Given the description of an element on the screen output the (x, y) to click on. 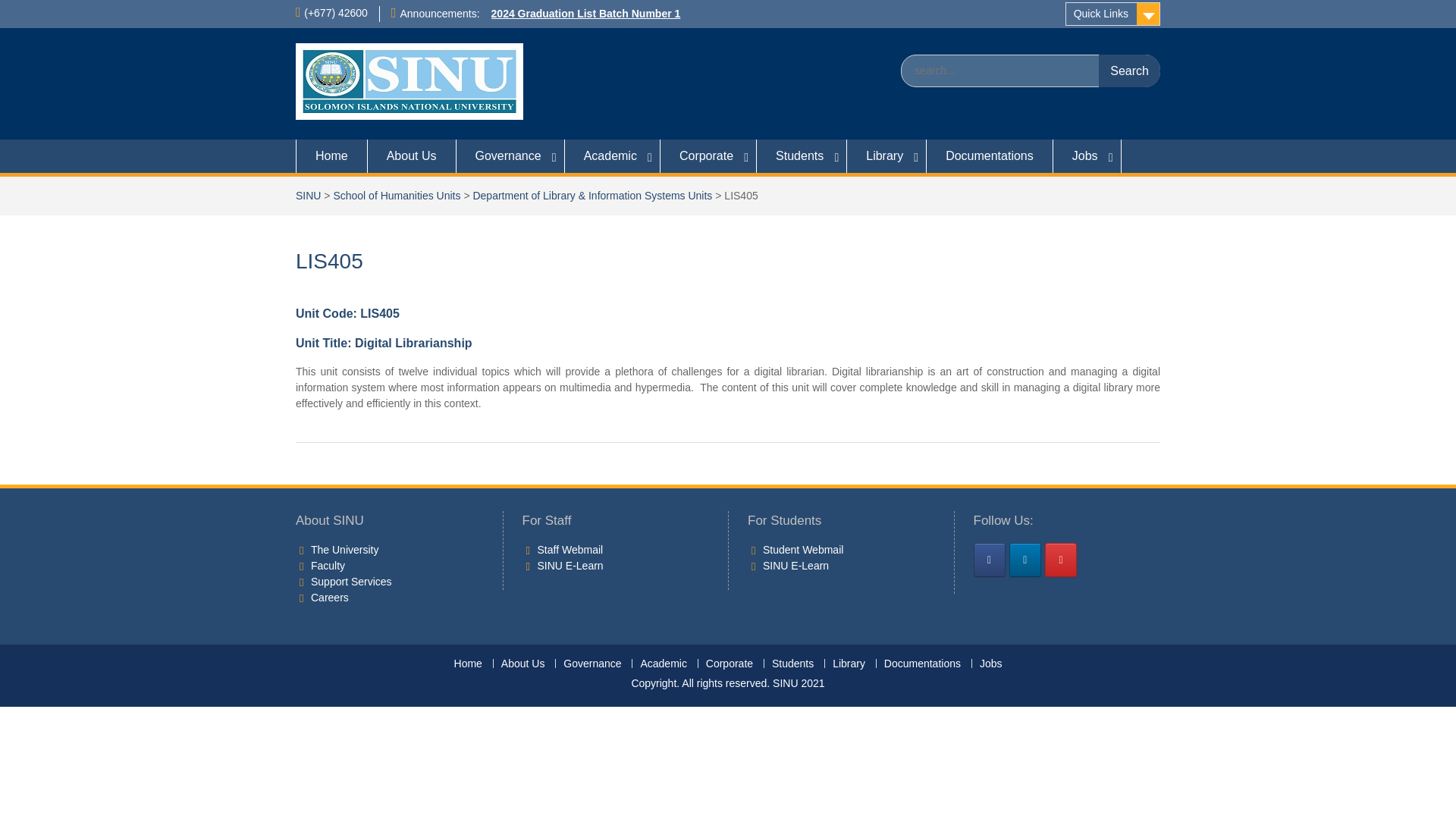
Governance (510, 155)
SINU on Instagram (1061, 559)
Search (1129, 70)
SINU on Linkedin (1025, 559)
Search (1129, 70)
Home (331, 155)
About Us (412, 155)
Search (1129, 70)
Quick Links (1112, 13)
2024 Graduation List Batch Number 1 (586, 13)
Search for: (1030, 70)
SINU on Facebook (990, 559)
Academic (612, 155)
